Given the description of an element on the screen output the (x, y) to click on. 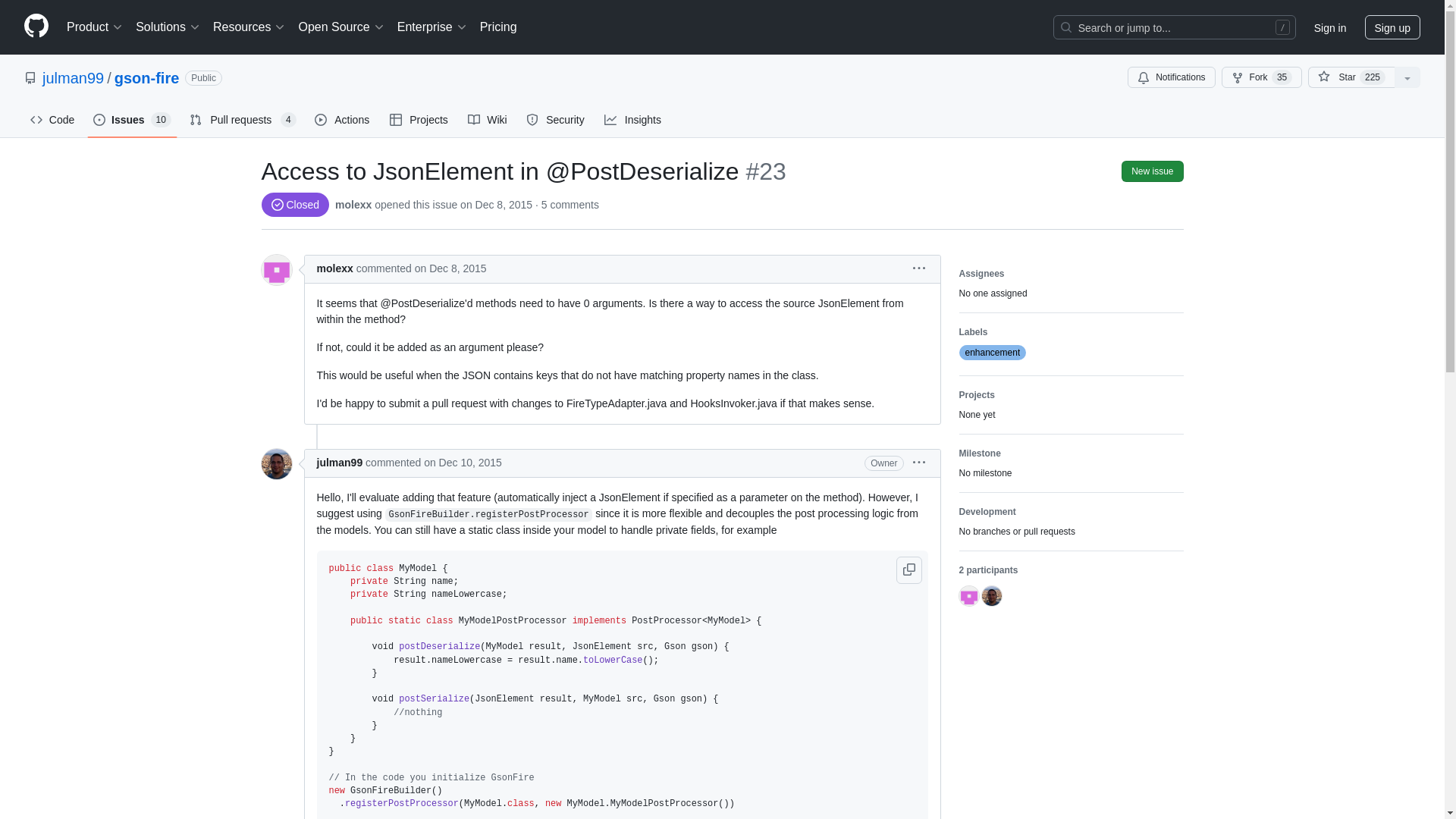
Status: Closed (294, 204)
Open Source (341, 27)
Resources (249, 27)
Solutions (167, 27)
4 (289, 119)
225 (1372, 77)
10 (161, 119)
35 (1281, 77)
Product (95, 27)
